Given the description of an element on the screen output the (x, y) to click on. 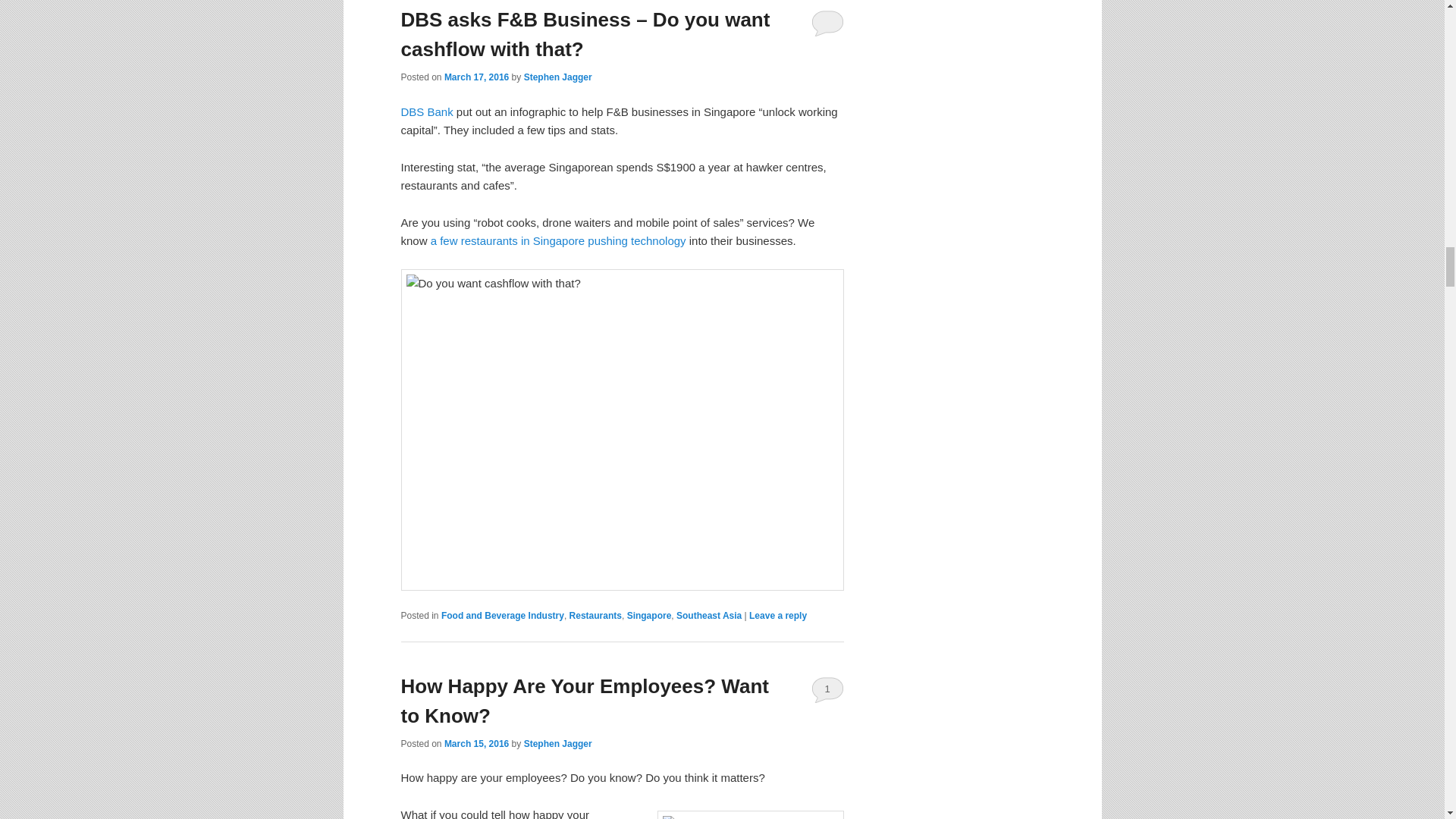
View all posts by Stephen Jagger (558, 77)
View all posts by Stephen Jagger (558, 743)
9:50 am (476, 743)
5:58 pm (476, 77)
